Given the description of an element on the screen output the (x, y) to click on. 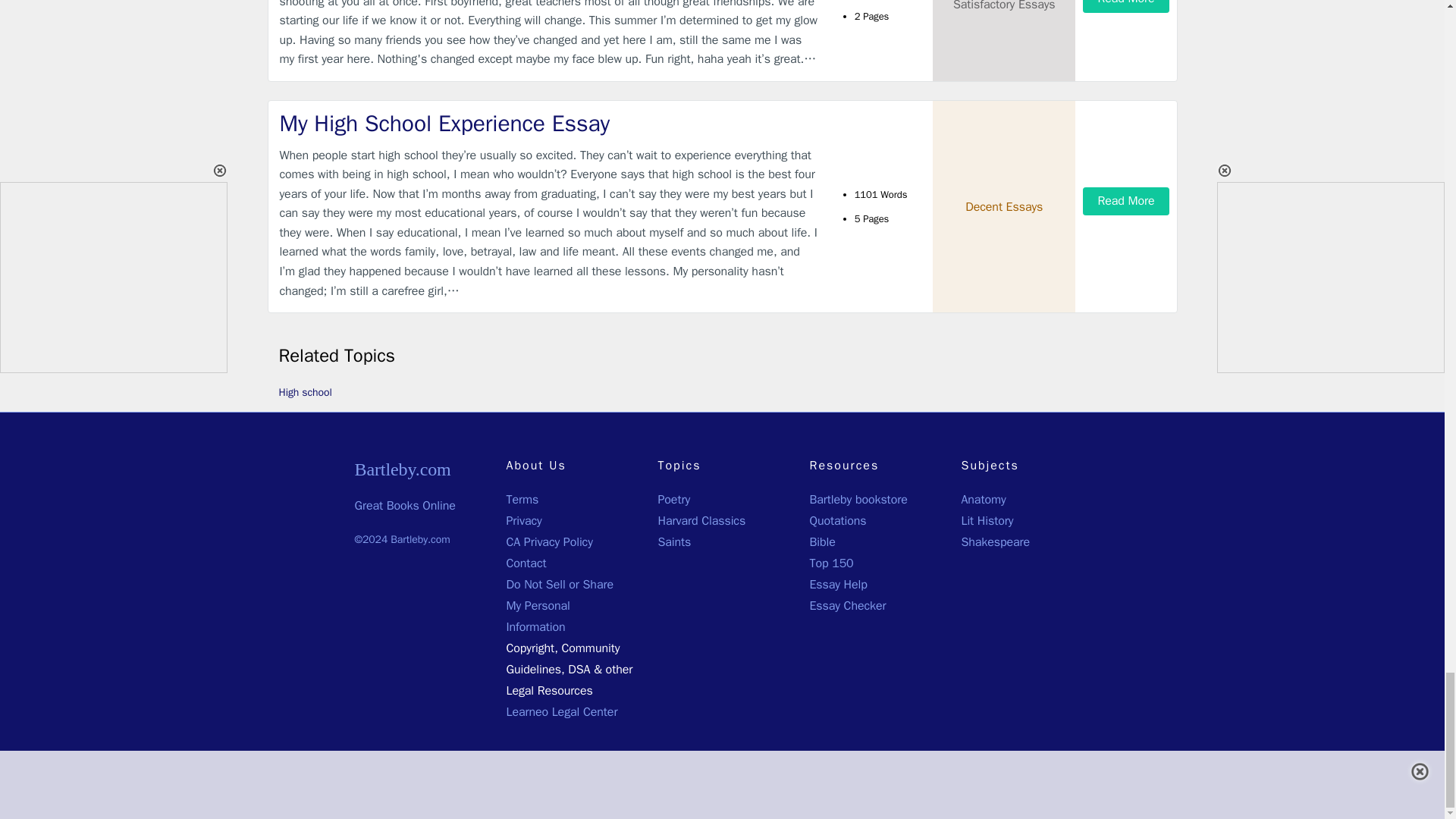
High school (305, 391)
